Given the description of an element on the screen output the (x, y) to click on. 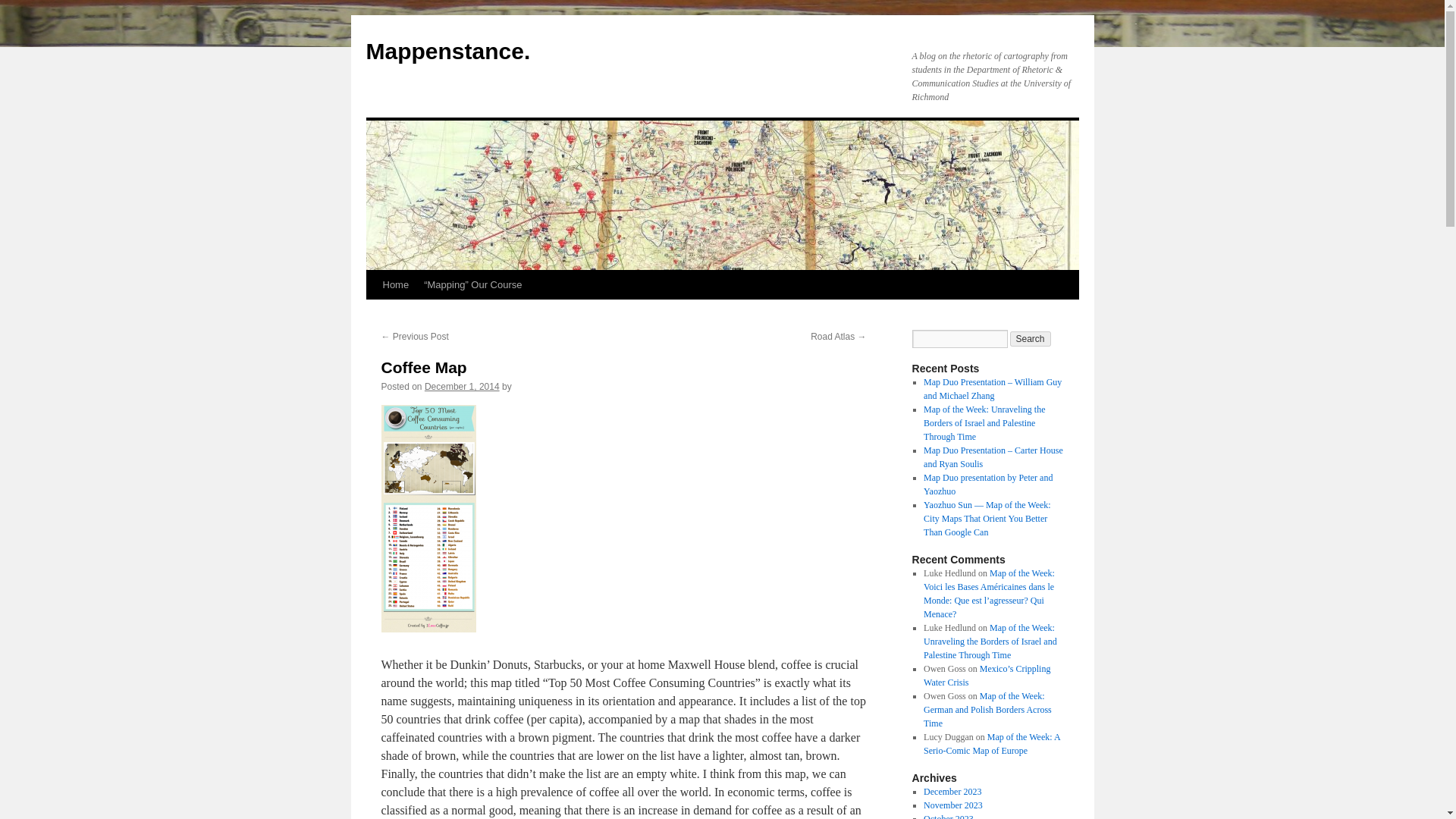
Map Duo presentation by Peter and Yaozhuo (987, 484)
December 1, 2014 (462, 386)
5:20 pm (462, 386)
Map of the Week: German and Polish Borders Across Time (987, 709)
October 2023 (948, 816)
Map of the Week: A Serio-Comic Map of Europe (991, 743)
Home (395, 285)
Search (1030, 338)
Mappenstance. (447, 50)
November 2023 (952, 805)
December 2023 (952, 791)
Search (1030, 338)
